Given the description of an element on the screen output the (x, y) to click on. 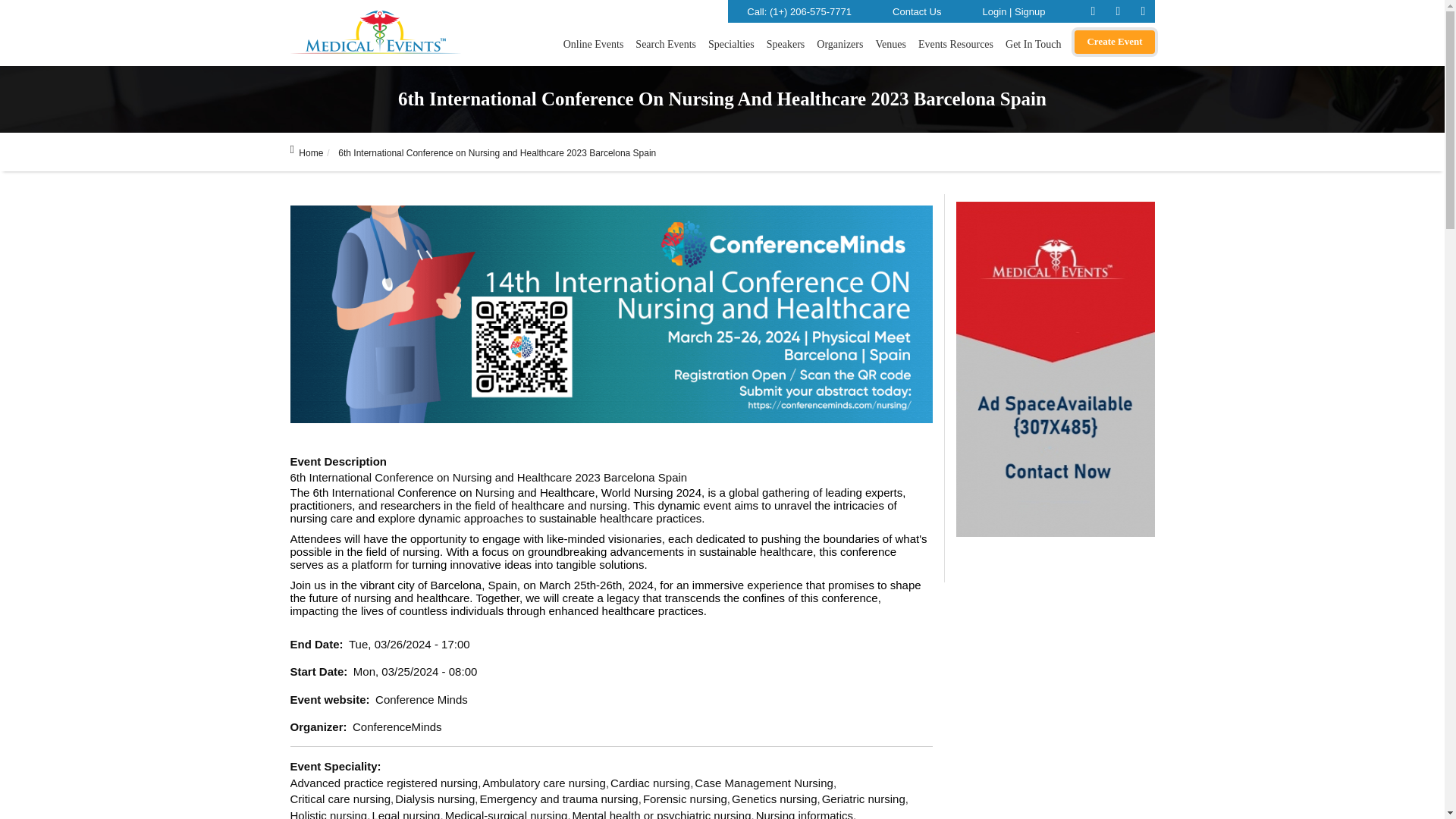
Forensic nursing (687, 798)
ConferenceMinds (397, 726)
Emergency and trauma nursing (560, 798)
Holistic nursing (330, 814)
Legal nursing (407, 814)
Create Event (1114, 42)
Create Event (1114, 42)
Signup (1028, 11)
Contact Us (916, 11)
Online Events (593, 46)
Ambulatory care nursing (545, 782)
Critical care nursing (341, 798)
Dialysis nursing (436, 798)
Specialties (730, 46)
Genetics nursing (777, 798)
